Given the description of an element on the screen output the (x, y) to click on. 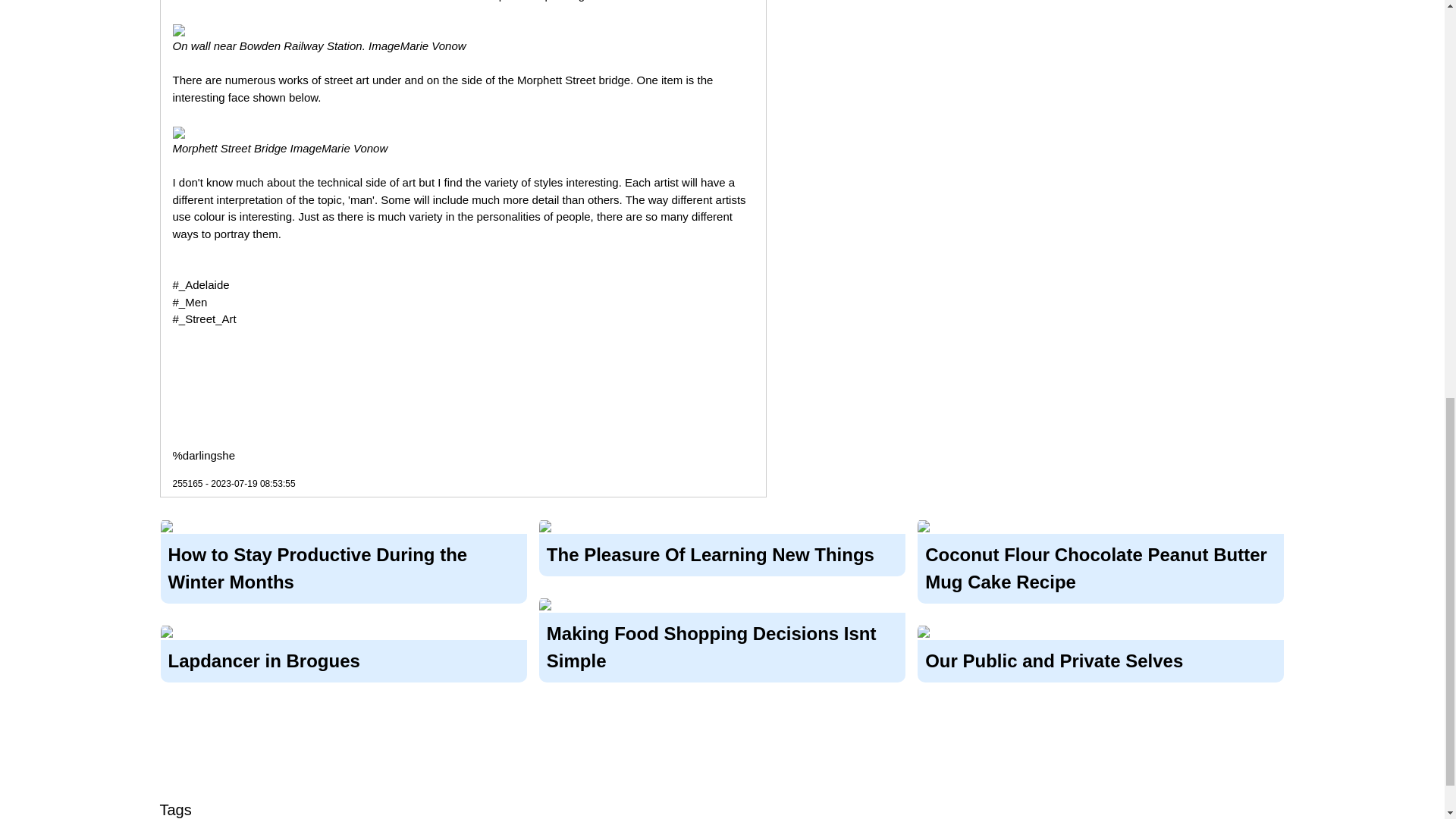
Lapdancer in Brogues (343, 657)
How to Stay Productive During the Winter Months (343, 565)
Our Public and Private Selves (1100, 657)
The Pleasure Of Learning New Things (721, 552)
Making Food Shopping Decisions Isnt Simple (721, 644)
Coconut Flour Chocolate Peanut Butter Mug Cake Recipe (1100, 565)
